Given the description of an element on the screen output the (x, y) to click on. 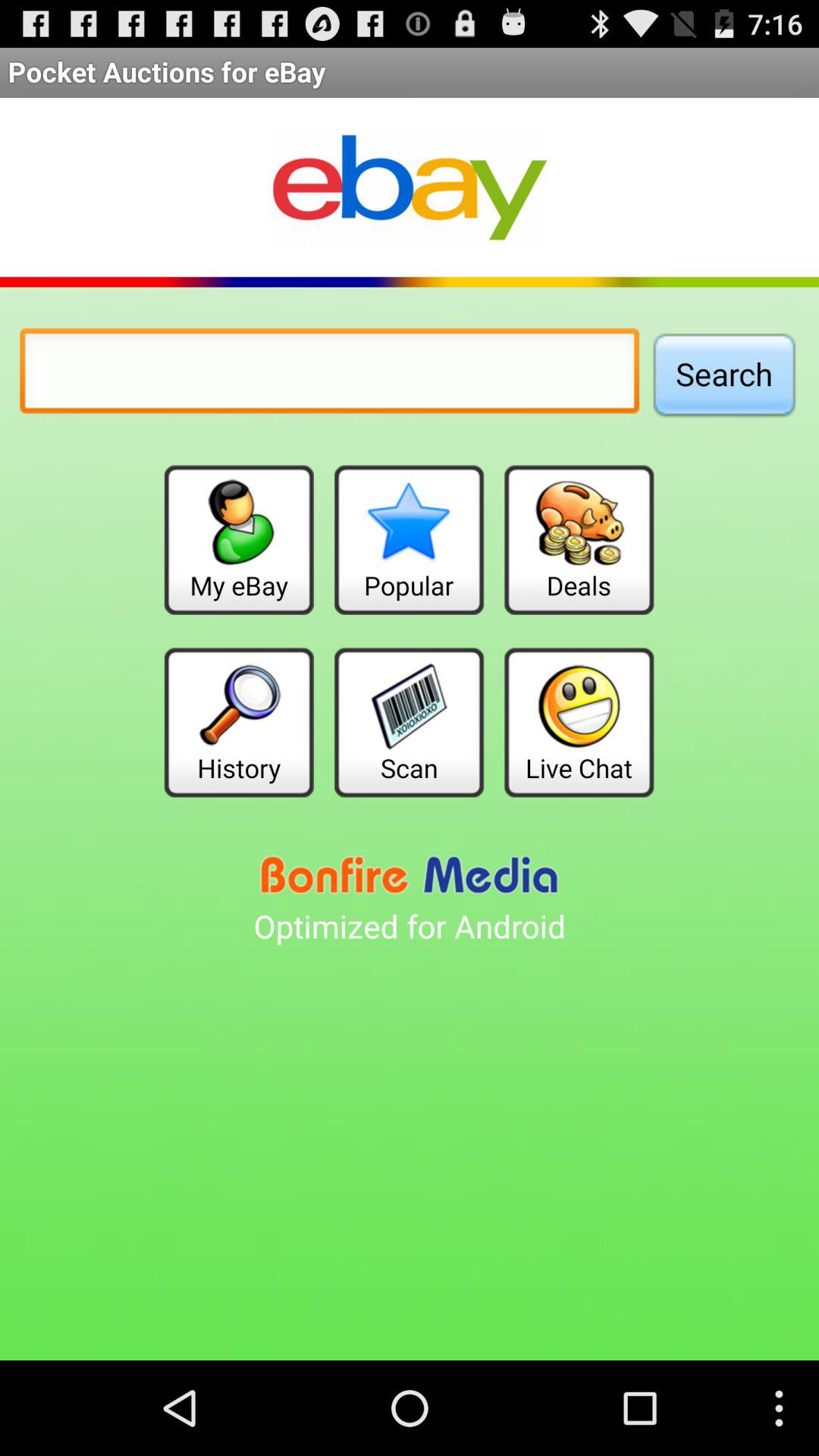
press the icon next to scan (238, 722)
